Given the description of an element on the screen output the (x, y) to click on. 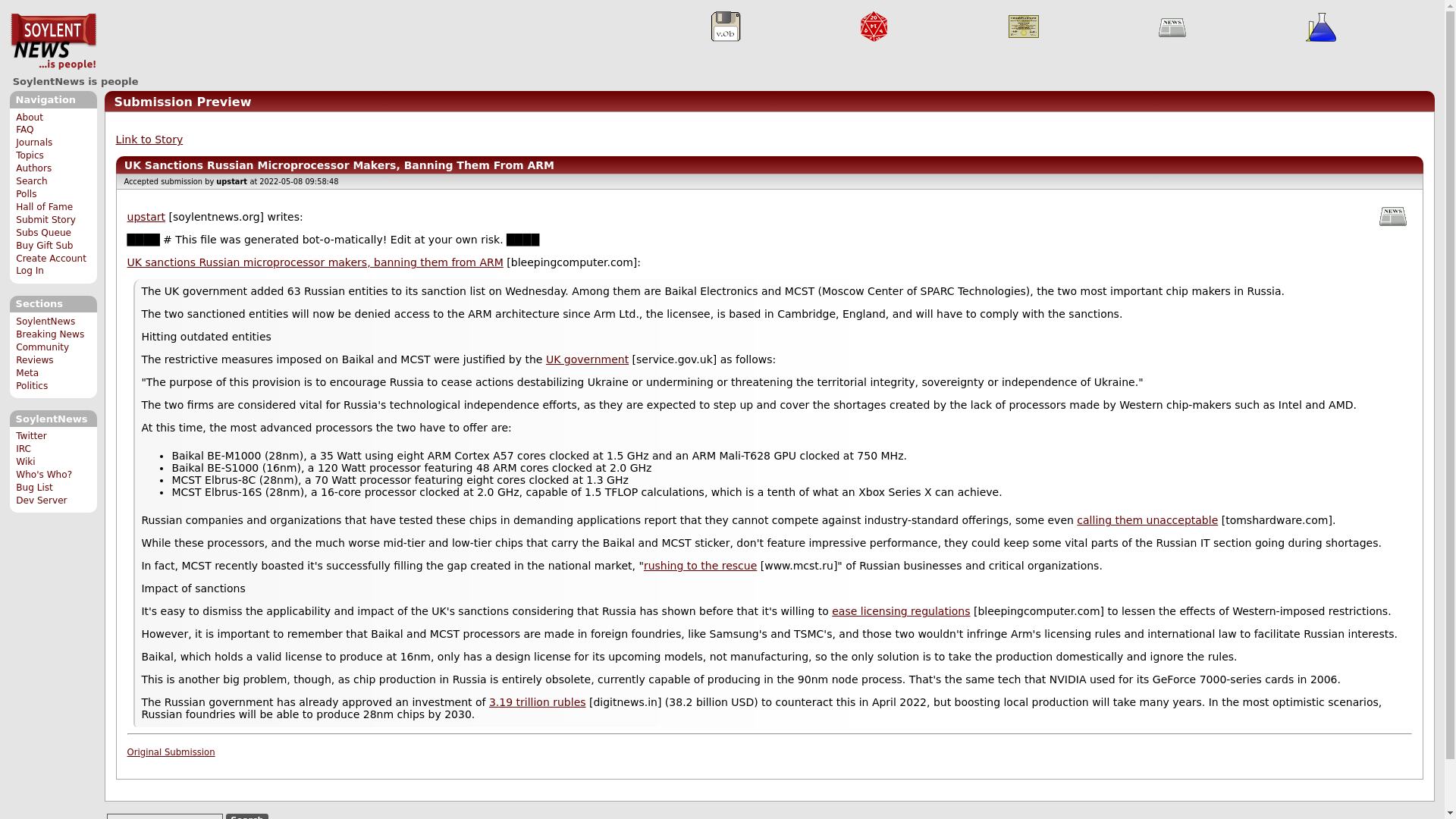
Topics (29, 154)
IRC (23, 448)
News (1172, 26)
Subs Queue (43, 232)
FAQ (24, 129)
Hall of Fame (44, 206)
Search (32, 181)
SoylentNews (45, 321)
Polls (26, 194)
Breaking News (50, 334)
